Given the description of an element on the screen output the (x, y) to click on. 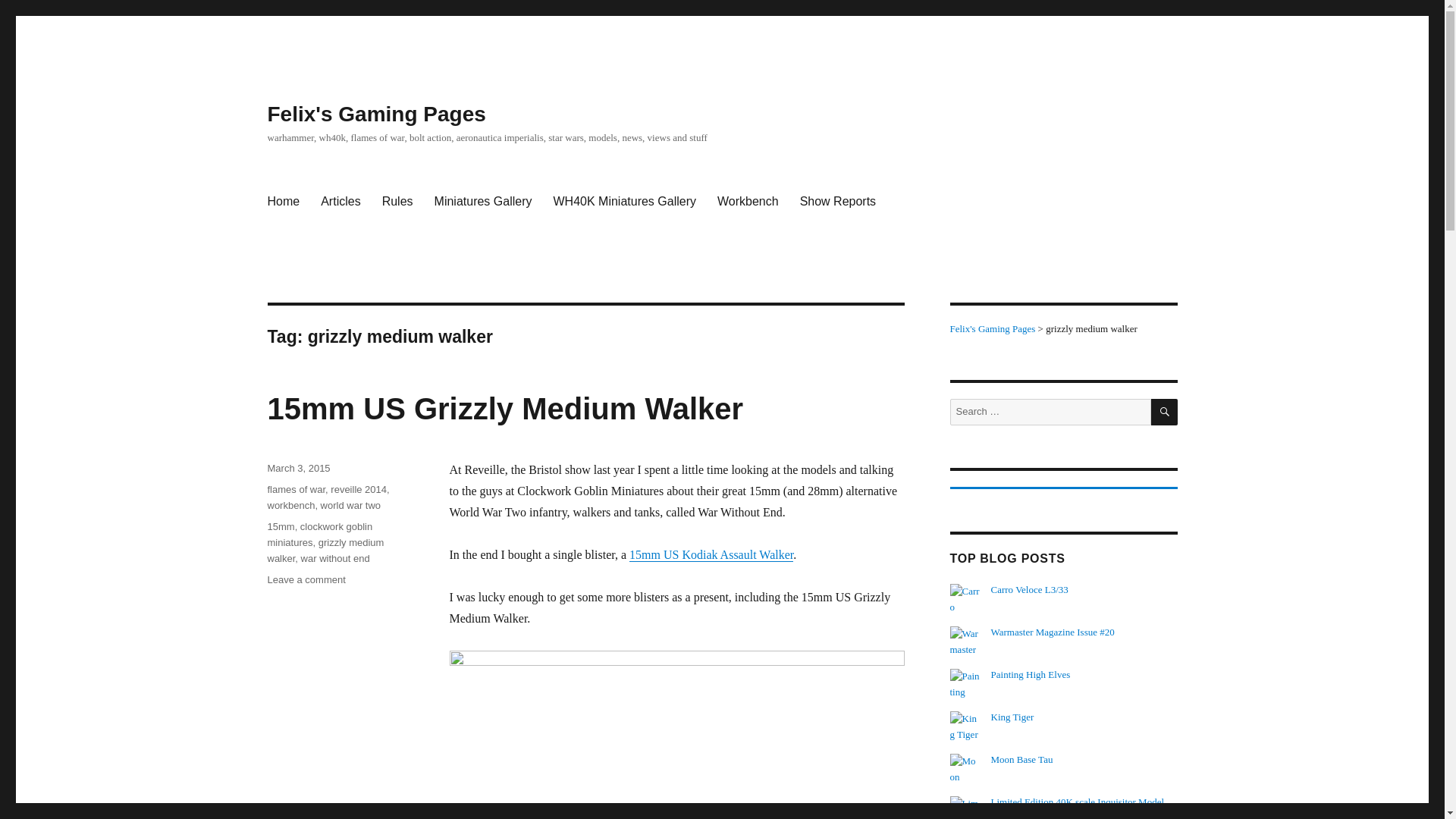
grizzly medium walker (325, 550)
Miniatures Gallery (483, 201)
15mm (280, 526)
workbench (290, 505)
world war two (350, 505)
flames of war (295, 489)
Home (283, 201)
15mm US Grizzly Medium Walker (504, 408)
reveille 2014 (358, 489)
Moon Base Tau (1021, 758)
Felix's Gaming Pages (375, 114)
March 3, 2015 (298, 468)
Articles (340, 201)
WH40K Miniatures Gallery (623, 201)
King Tiger (1012, 716)
